Given the description of an element on the screen output the (x, y) to click on. 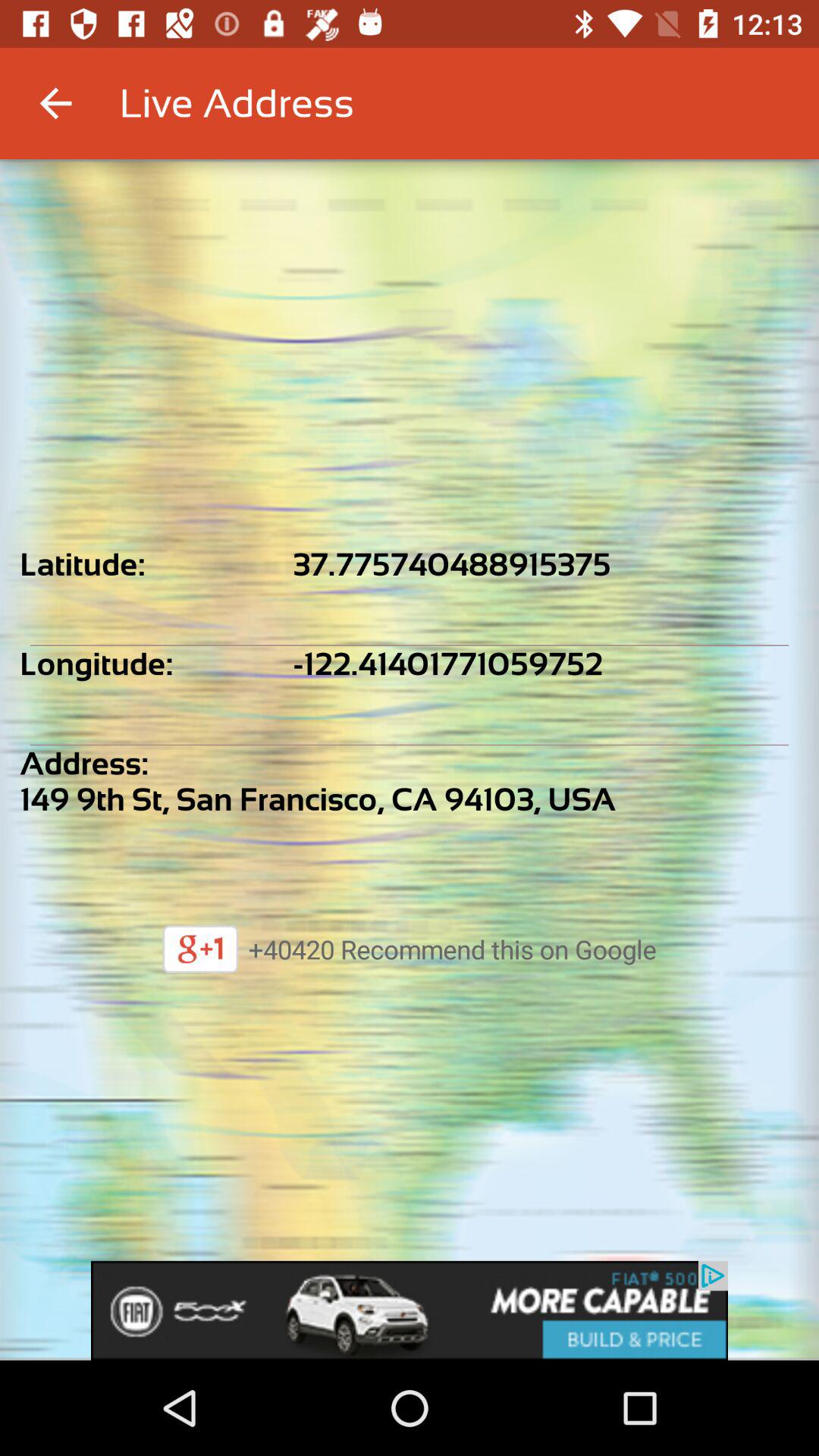
advertisement (409, 1310)
